Given the description of an element on the screen output the (x, y) to click on. 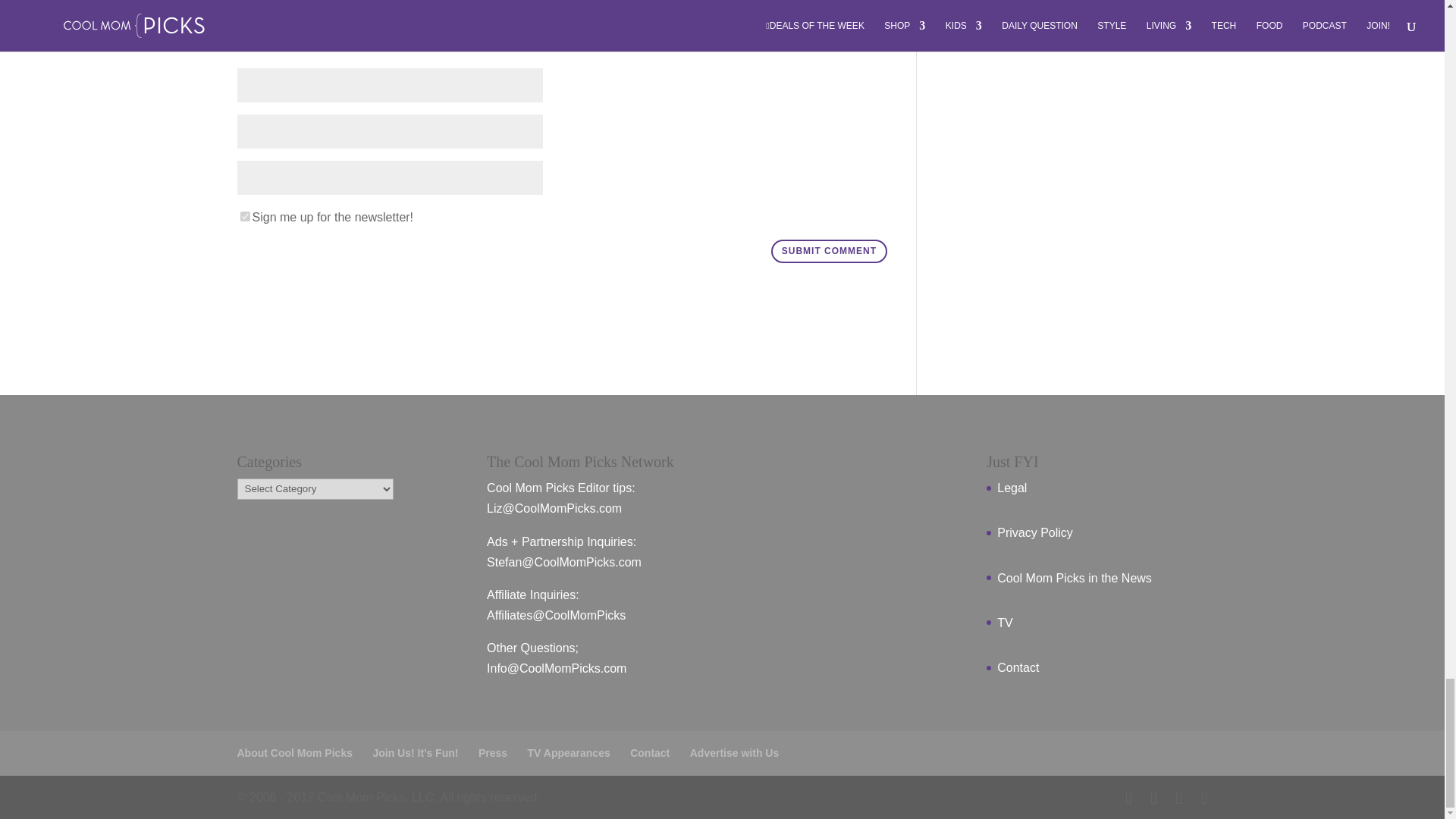
About Cool Mom Picks (293, 752)
1 (244, 216)
Submit Comment (828, 251)
